Given the description of an element on the screen output the (x, y) to click on. 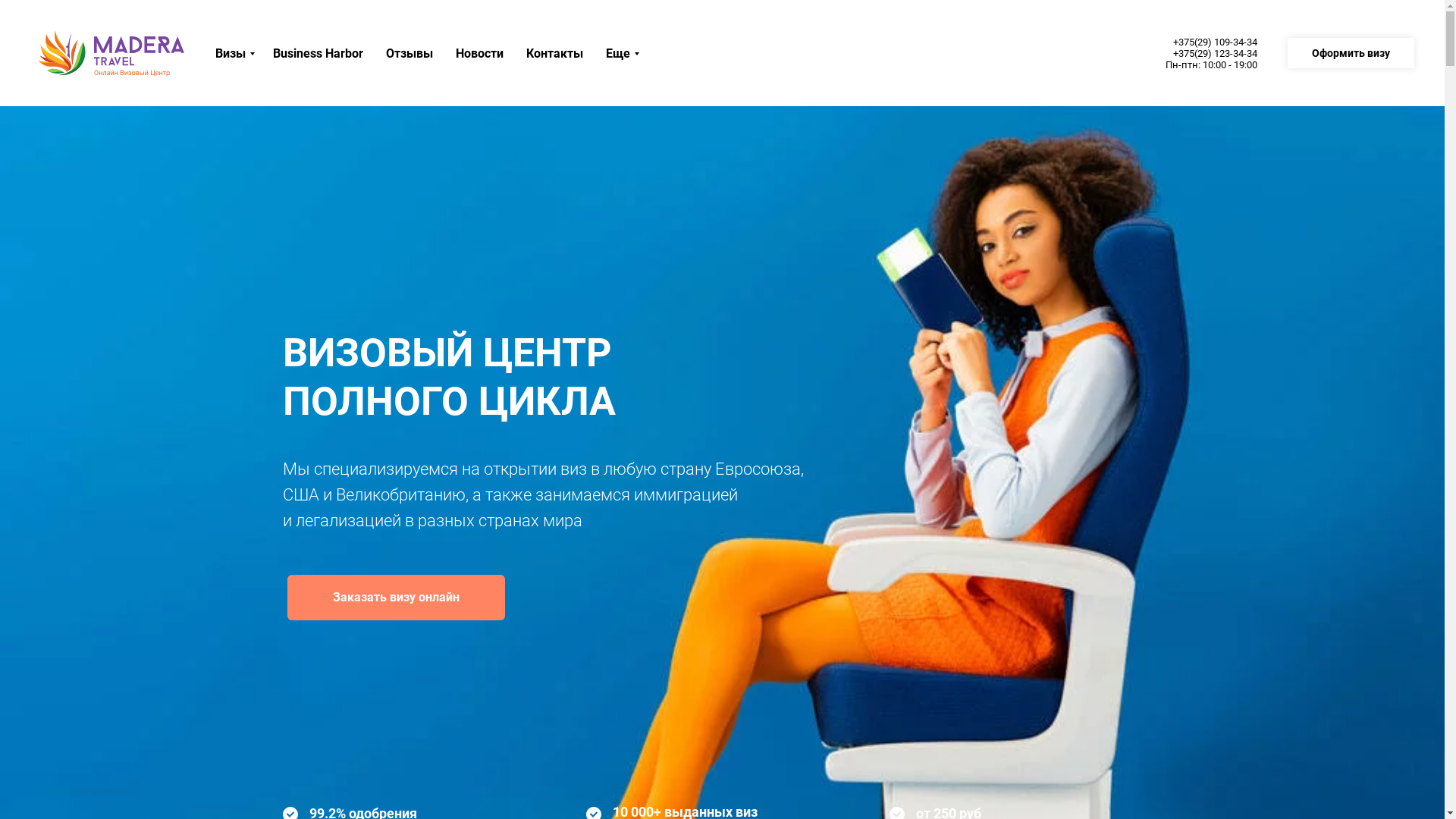
Business Harbor Element type: text (318, 52)
+375(29) 109-34-34 Element type: text (1215, 41)
+375(29) 123-34-34 Element type: text (1215, 52)
